Given the description of an element on the screen output the (x, y) to click on. 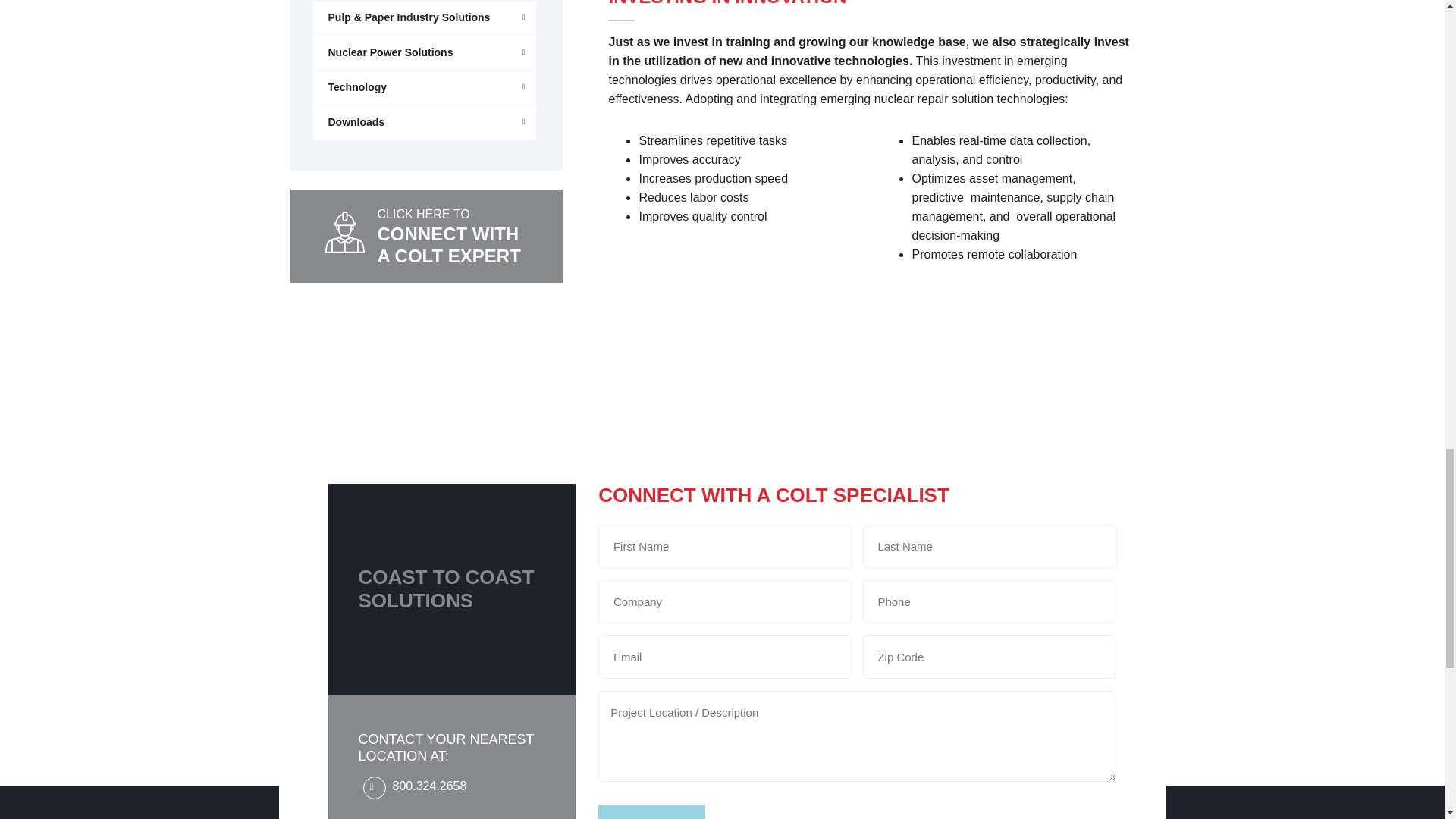
Submit (651, 811)
